Given the description of an element on the screen output the (x, y) to click on. 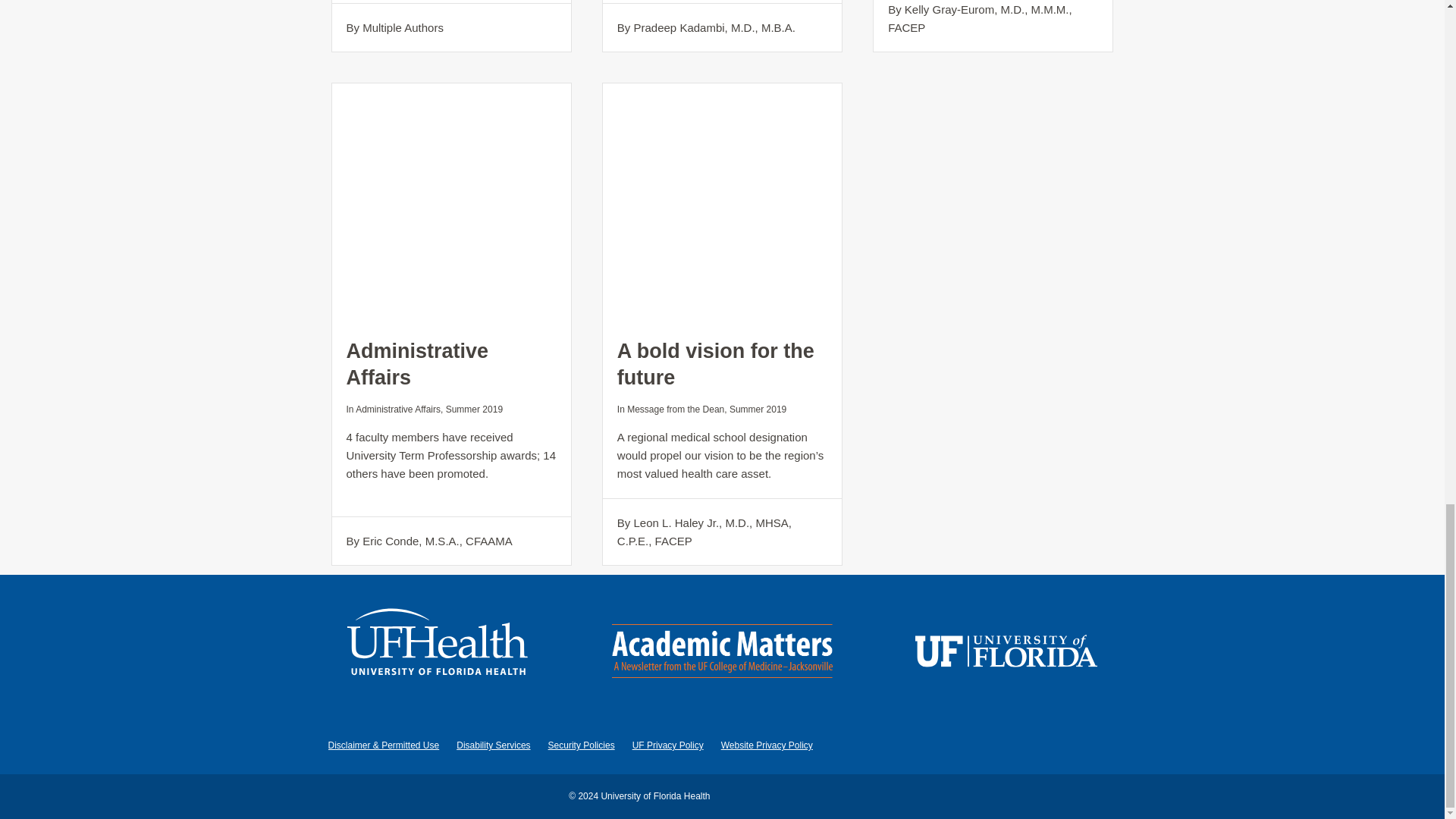
University of Florida (1005, 653)
UF Health (437, 653)
Disability Services (493, 745)
UF Health Logo (437, 653)
UF Privacy Policy (667, 745)
Website Privacy Policy (766, 745)
Publication Logo (721, 653)
Security Policies (581, 745)
University of Florida Logo (1005, 653)
